Given the description of an element on the screen output the (x, y) to click on. 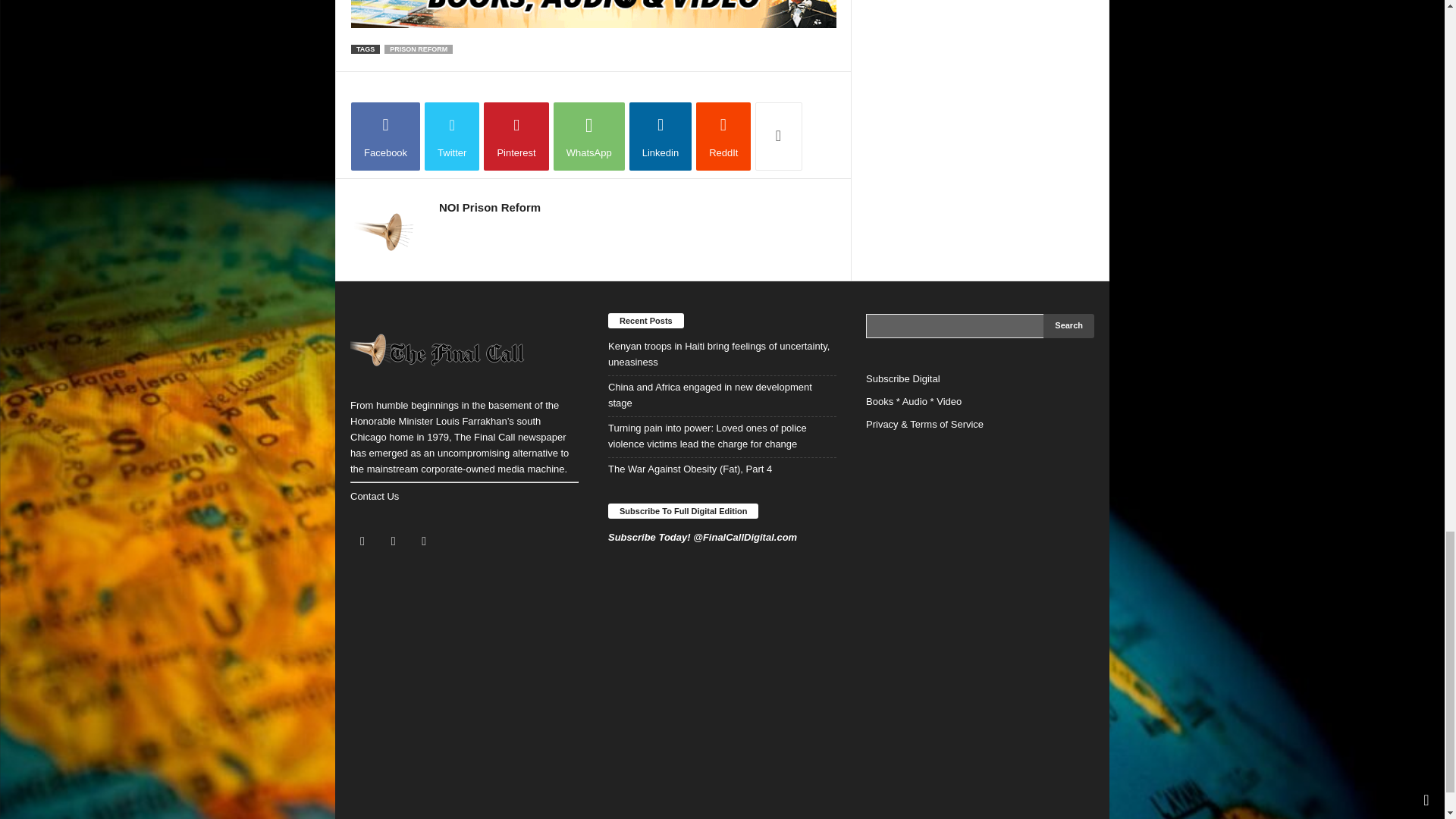
Search (1068, 325)
